Given the description of an element on the screen output the (x, y) to click on. 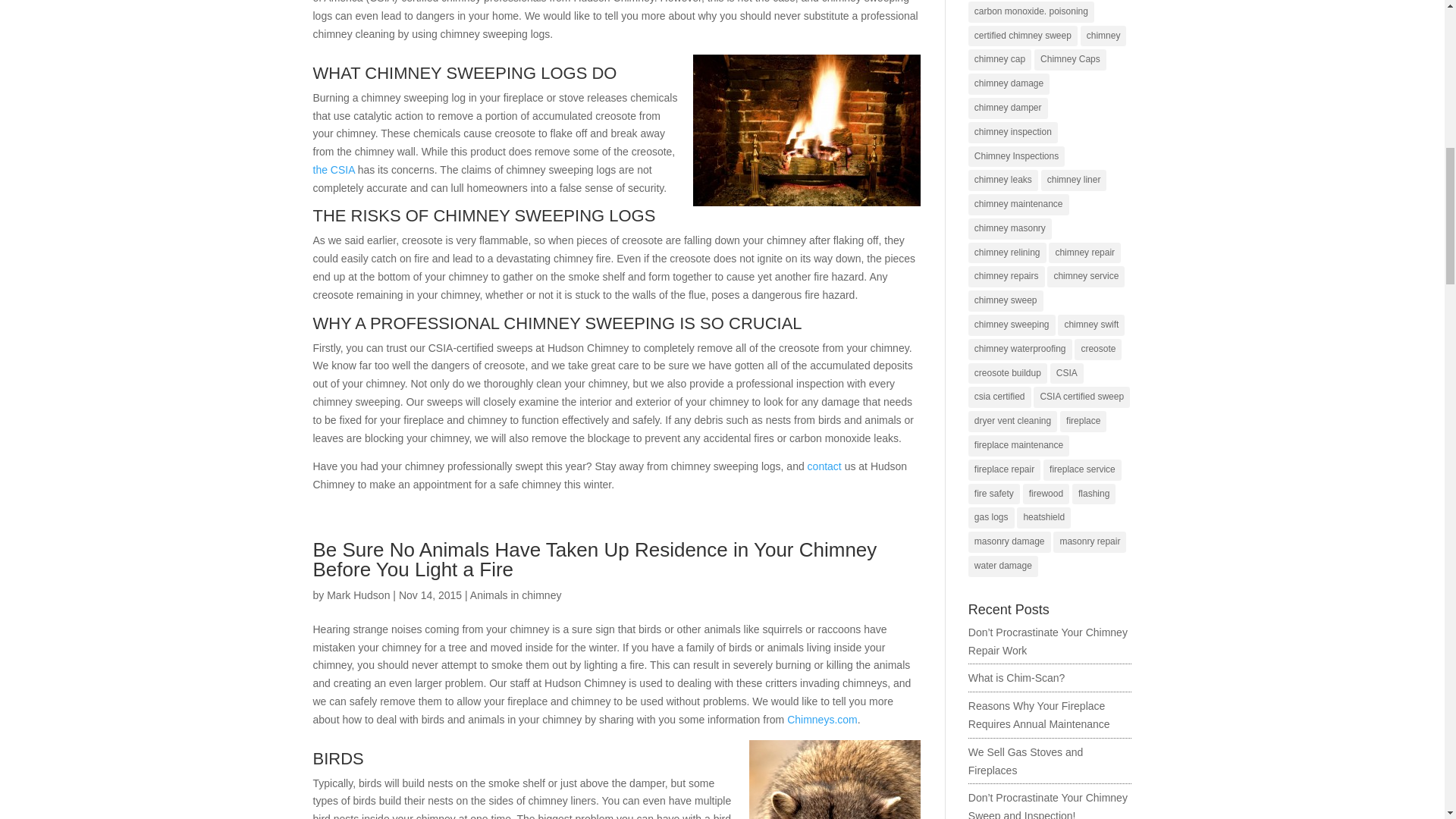
Chimneys.com (822, 719)
Animals in chimney (516, 594)
Posts by Mark Hudson (358, 594)
contact (824, 466)
Mark Hudson (358, 594)
the CSIA (333, 169)
